Given the description of an element on the screen output the (x, y) to click on. 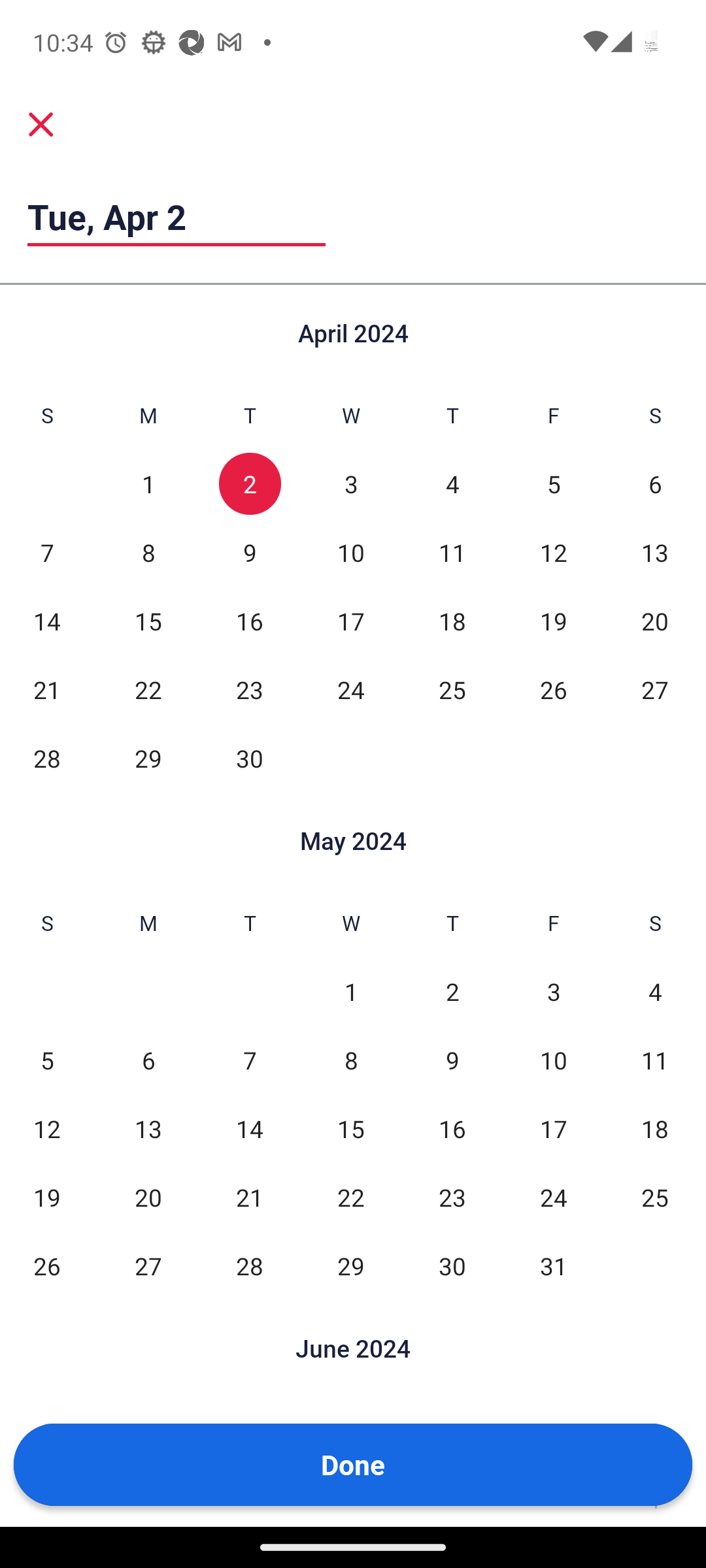
Cancel (41, 124)
Tue, Apr 2 (176, 215)
1 Mon, Apr 1, Not Selected (148, 483)
2 Tue, Apr 2, Selected (250, 483)
3 Wed, Apr 3, Not Selected (350, 483)
4 Thu, Apr 4, Not Selected (452, 483)
5 Fri, Apr 5, Not Selected (553, 483)
6 Sat, Apr 6, Not Selected (655, 483)
7 Sun, Apr 7, Not Selected (47, 551)
8 Mon, Apr 8, Not Selected (148, 551)
9 Tue, Apr 9, Not Selected (250, 551)
10 Wed, Apr 10, Not Selected (350, 551)
11 Thu, Apr 11, Not Selected (452, 551)
12 Fri, Apr 12, Not Selected (553, 551)
13 Sat, Apr 13, Not Selected (655, 551)
14 Sun, Apr 14, Not Selected (47, 620)
15 Mon, Apr 15, Not Selected (148, 620)
16 Tue, Apr 16, Not Selected (250, 620)
17 Wed, Apr 17, Not Selected (350, 620)
18 Thu, Apr 18, Not Selected (452, 620)
19 Fri, Apr 19, Not Selected (553, 620)
20 Sat, Apr 20, Not Selected (655, 620)
21 Sun, Apr 21, Not Selected (47, 689)
22 Mon, Apr 22, Not Selected (148, 689)
23 Tue, Apr 23, Not Selected (250, 689)
24 Wed, Apr 24, Not Selected (350, 689)
25 Thu, Apr 25, Not Selected (452, 689)
26 Fri, Apr 26, Not Selected (553, 689)
27 Sat, Apr 27, Not Selected (655, 689)
28 Sun, Apr 28, Not Selected (47, 757)
29 Mon, Apr 29, Not Selected (148, 757)
30 Tue, Apr 30, Not Selected (250, 757)
1 Wed, May 1, Not Selected (350, 990)
2 Thu, May 2, Not Selected (452, 990)
3 Fri, May 3, Not Selected (553, 990)
4 Sat, May 4, Not Selected (655, 990)
5 Sun, May 5, Not Selected (47, 1059)
6 Mon, May 6, Not Selected (148, 1059)
7 Tue, May 7, Not Selected (250, 1059)
8 Wed, May 8, Not Selected (350, 1059)
9 Thu, May 9, Not Selected (452, 1059)
10 Fri, May 10, Not Selected (553, 1059)
11 Sat, May 11, Not Selected (655, 1059)
12 Sun, May 12, Not Selected (47, 1128)
13 Mon, May 13, Not Selected (148, 1128)
14 Tue, May 14, Not Selected (250, 1128)
15 Wed, May 15, Not Selected (350, 1128)
16 Thu, May 16, Not Selected (452, 1128)
17 Fri, May 17, Not Selected (553, 1128)
18 Sat, May 18, Not Selected (655, 1128)
19 Sun, May 19, Not Selected (47, 1196)
20 Mon, May 20, Not Selected (148, 1196)
21 Tue, May 21, Not Selected (250, 1196)
22 Wed, May 22, Not Selected (350, 1196)
23 Thu, May 23, Not Selected (452, 1196)
24 Fri, May 24, Not Selected (553, 1196)
25 Sat, May 25, Not Selected (655, 1196)
26 Sun, May 26, Not Selected (47, 1264)
27 Mon, May 27, Not Selected (148, 1264)
28 Tue, May 28, Not Selected (250, 1264)
29 Wed, May 29, Not Selected (350, 1264)
30 Thu, May 30, Not Selected (452, 1264)
31 Fri, May 31, Not Selected (553, 1264)
Done Button Done (352, 1464)
